Given the description of an element on the screen output the (x, y) to click on. 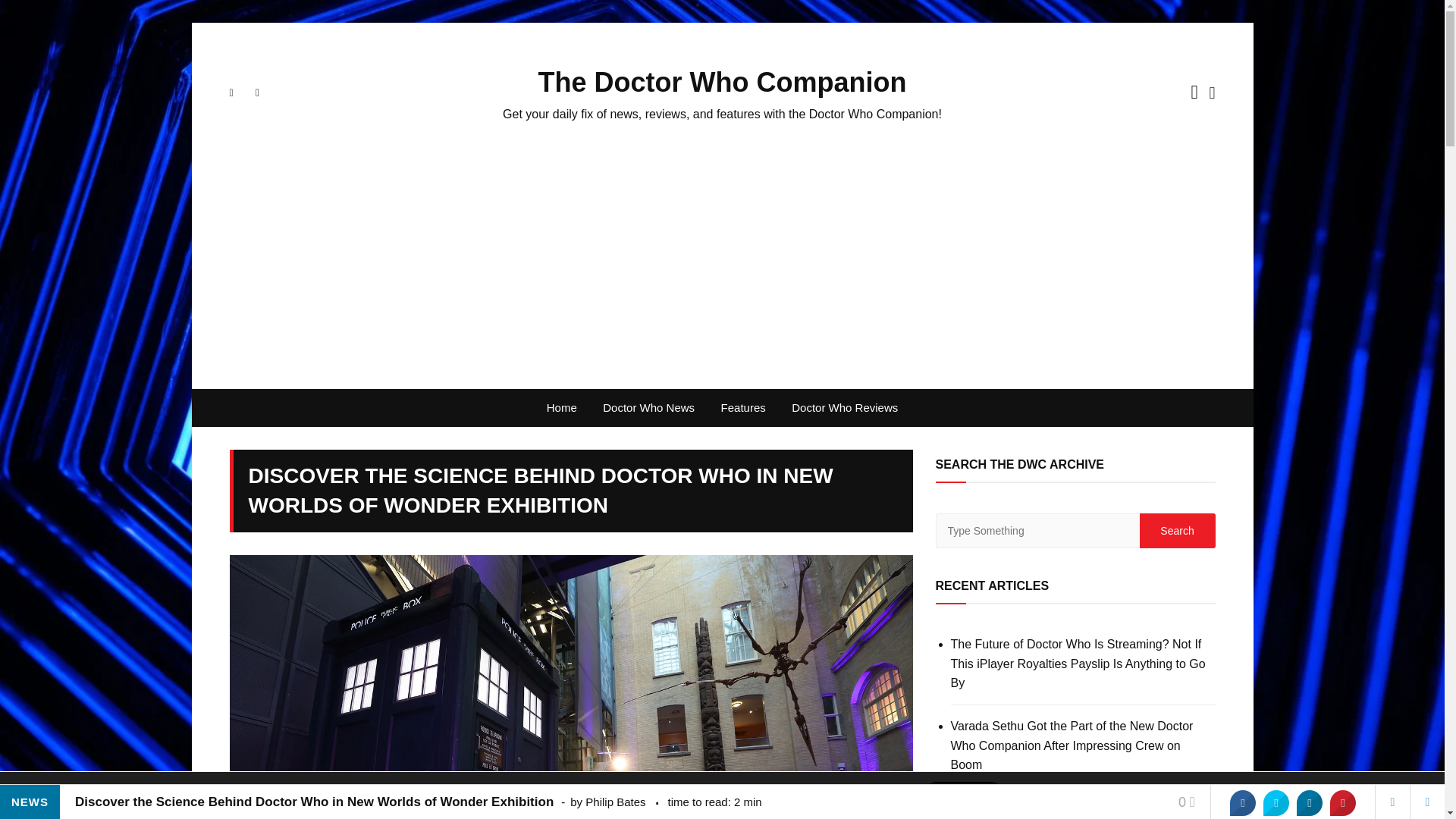
Home (561, 407)
Doctor Who News (648, 407)
The Doctor Who Companion (722, 81)
Search (1176, 530)
Features (743, 407)
Doctor Who Reviews (844, 407)
